Given the description of an element on the screen output the (x, y) to click on. 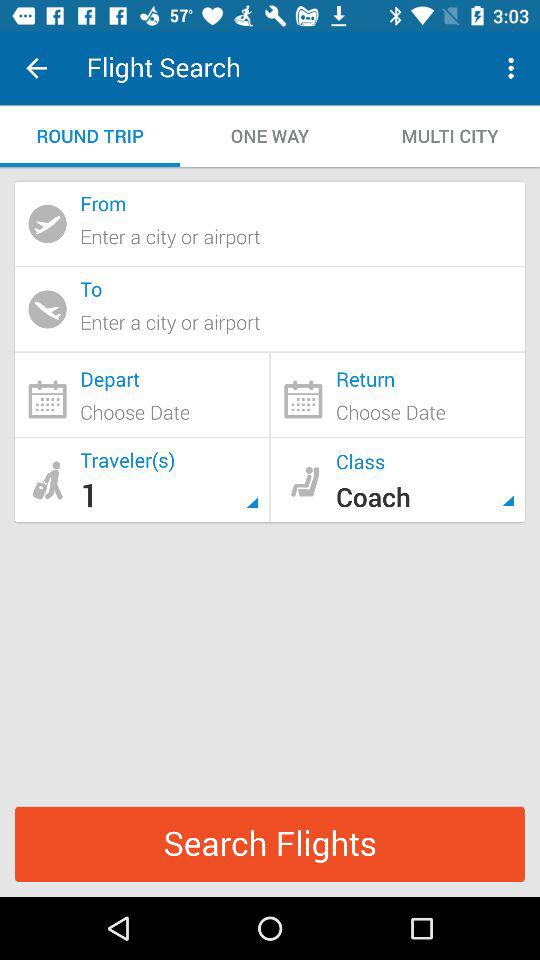
launch the one way icon (270, 136)
